Given the description of an element on the screen output the (x, y) to click on. 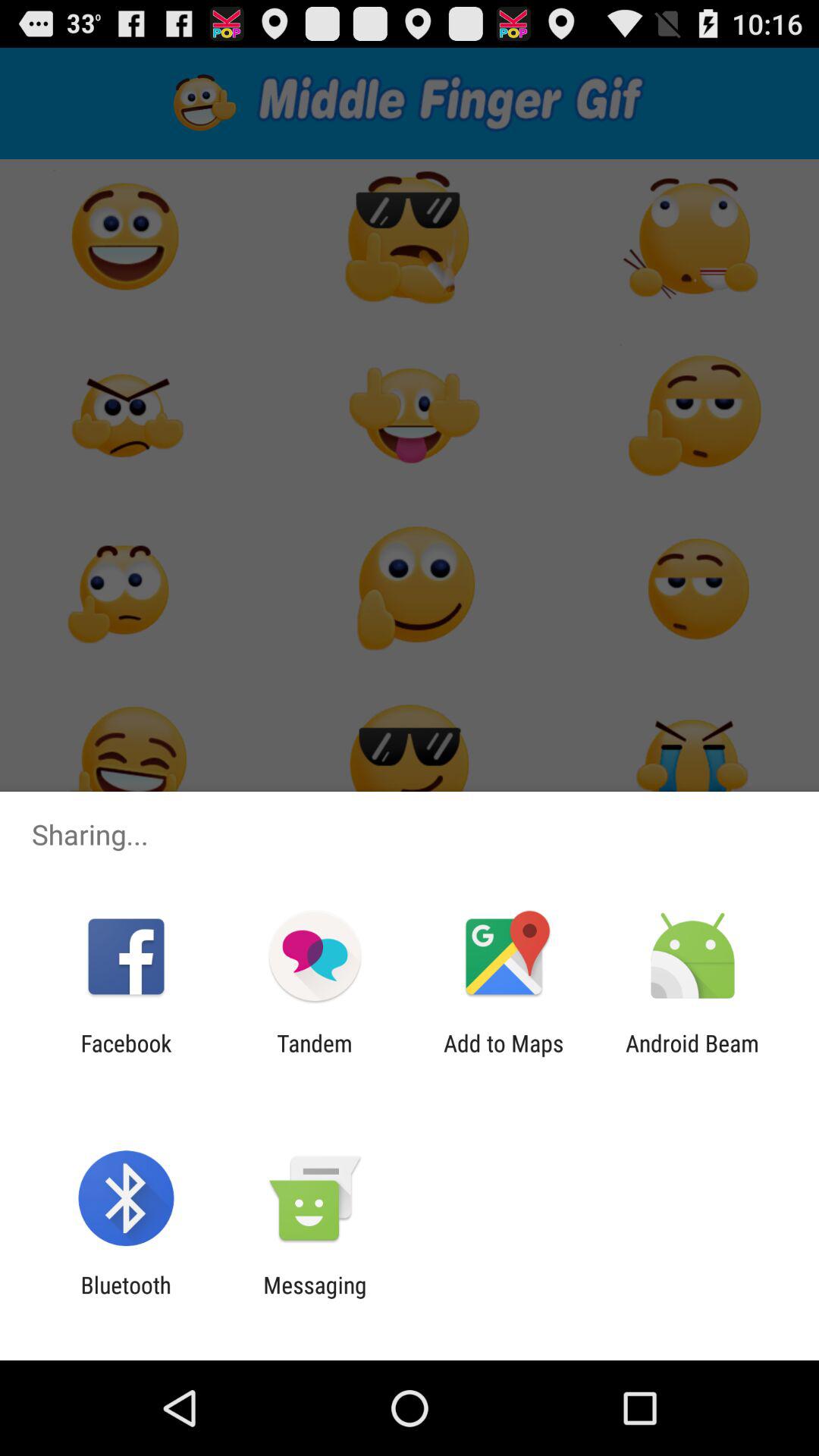
press the item to the right of facebook (314, 1056)
